Given the description of an element on the screen output the (x, y) to click on. 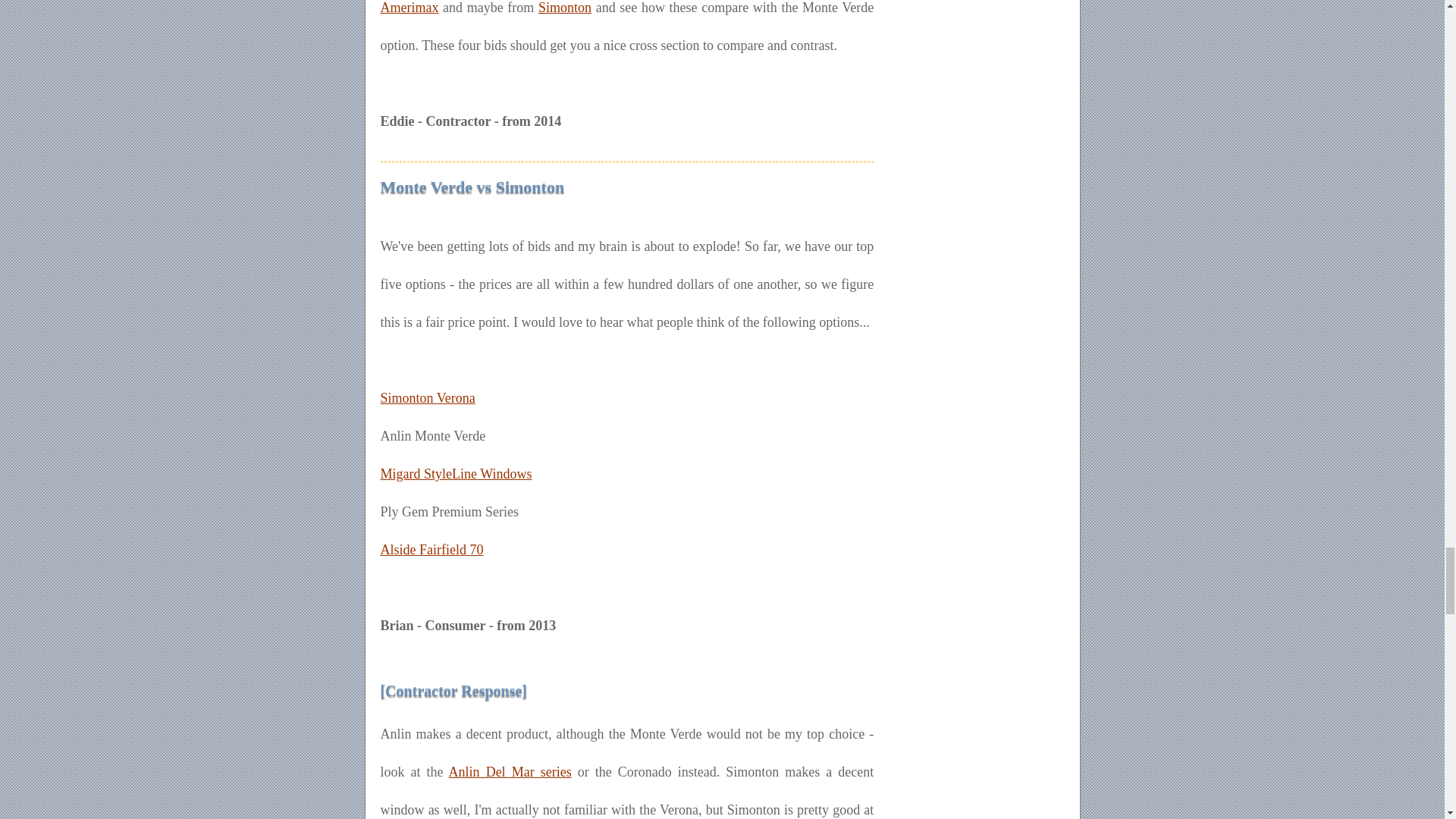
Migard StyleLine Windows (456, 473)
Amerimax (409, 7)
Simonton (564, 7)
Simonton Verona (428, 397)
Anlin Del Mar series (510, 771)
Alside Fairfield 70 (431, 549)
